Given the description of an element on the screen output the (x, y) to click on. 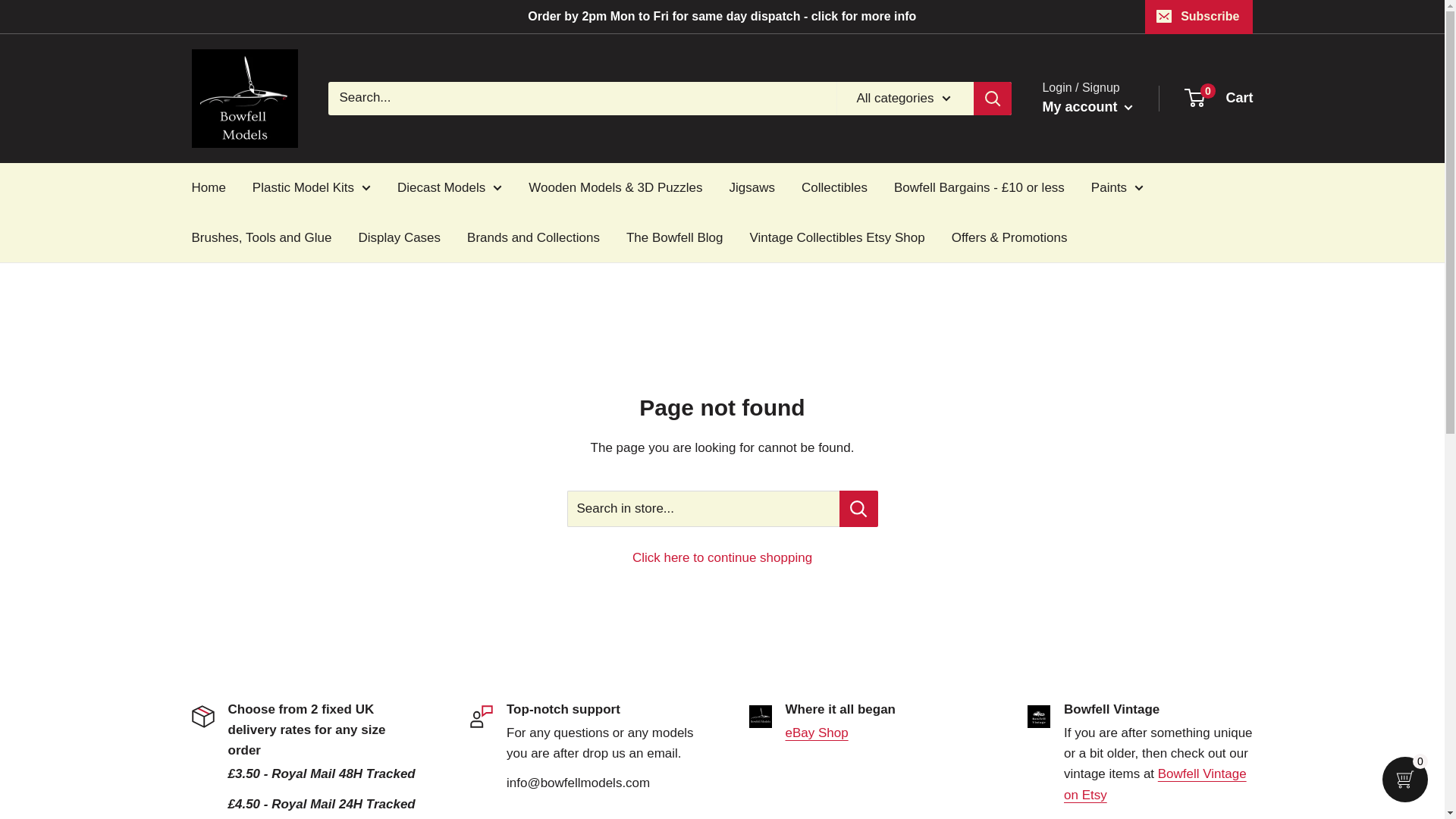
Subscribe (1198, 16)
